Given the description of an element on the screen output the (x, y) to click on. 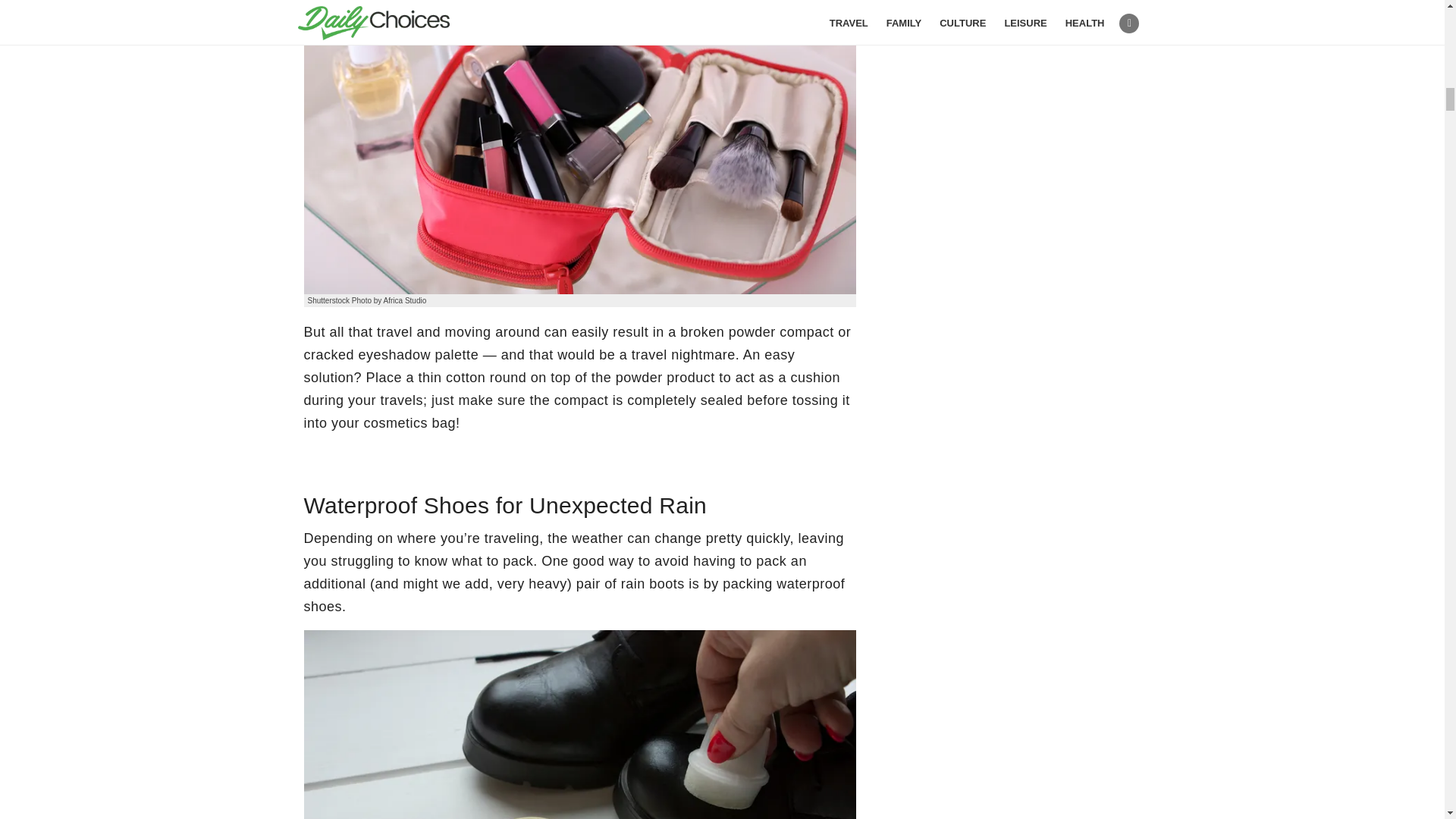
Waterproof Shoes for Unexpected Rain (579, 724)
